Given the description of an element on the screen output the (x, y) to click on. 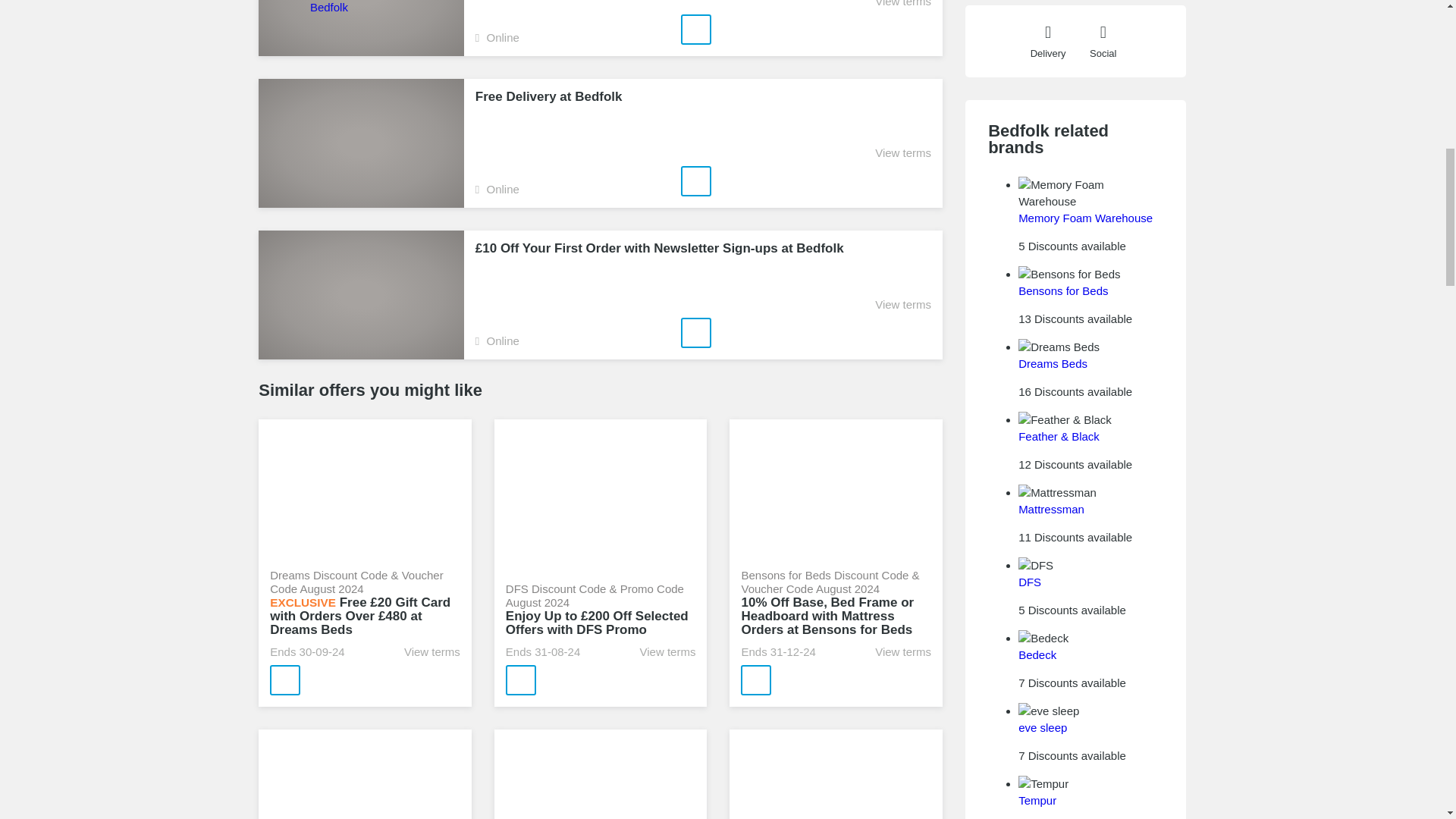
Memory Foam Warehouse (1085, 217)
